Given the description of an element on the screen output the (x, y) to click on. 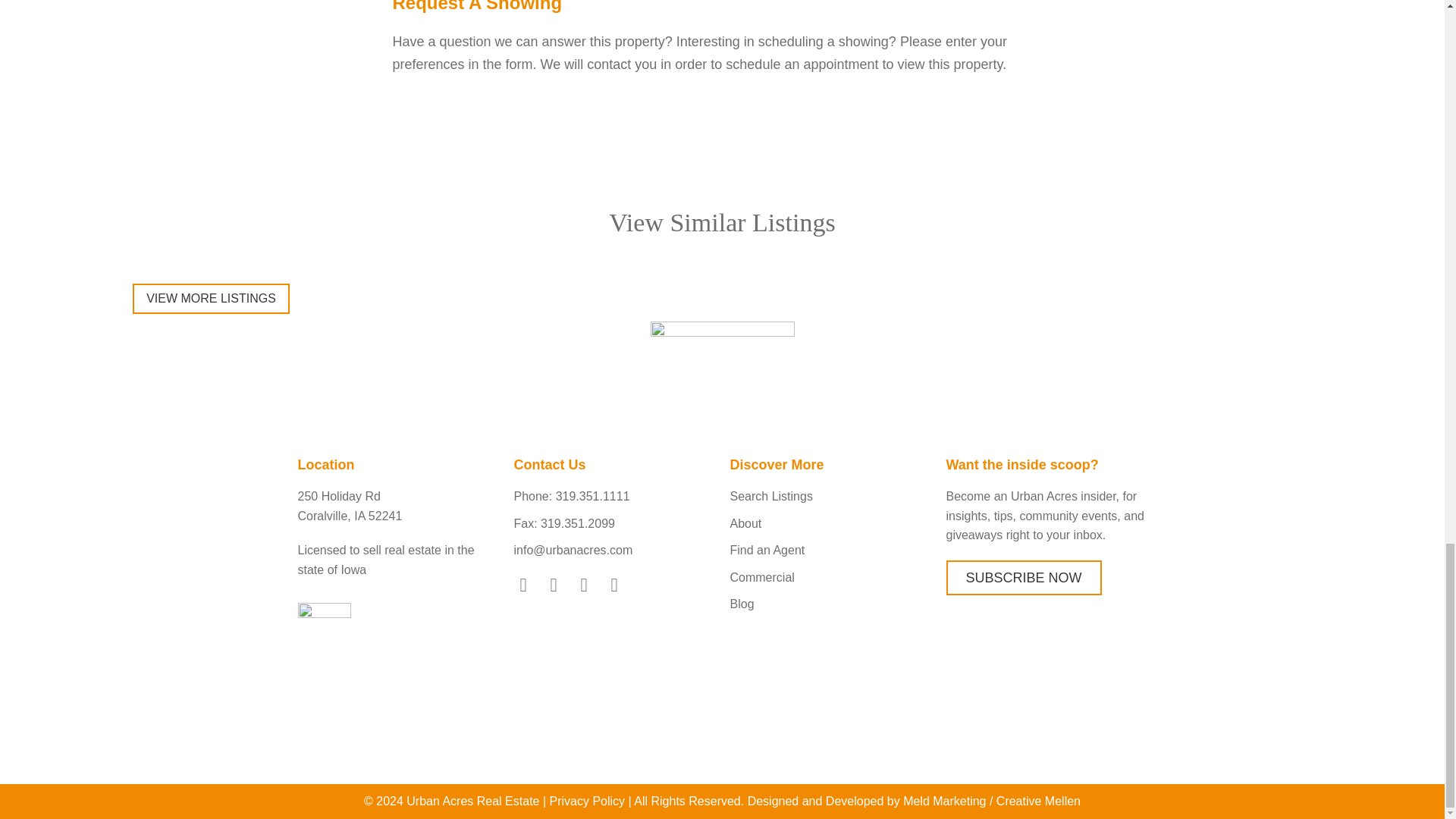
About (829, 523)
Phone: 319.351.1111 (613, 496)
Commercial (829, 578)
Privacy Policy (588, 800)
Meld Marketing (943, 800)
SUBSCRIBE NOW (1024, 577)
Blog (829, 604)
Search Listings (829, 496)
VIEW MORE LISTINGS (210, 298)
Find an Agent (829, 550)
